Given the description of an element on the screen output the (x, y) to click on. 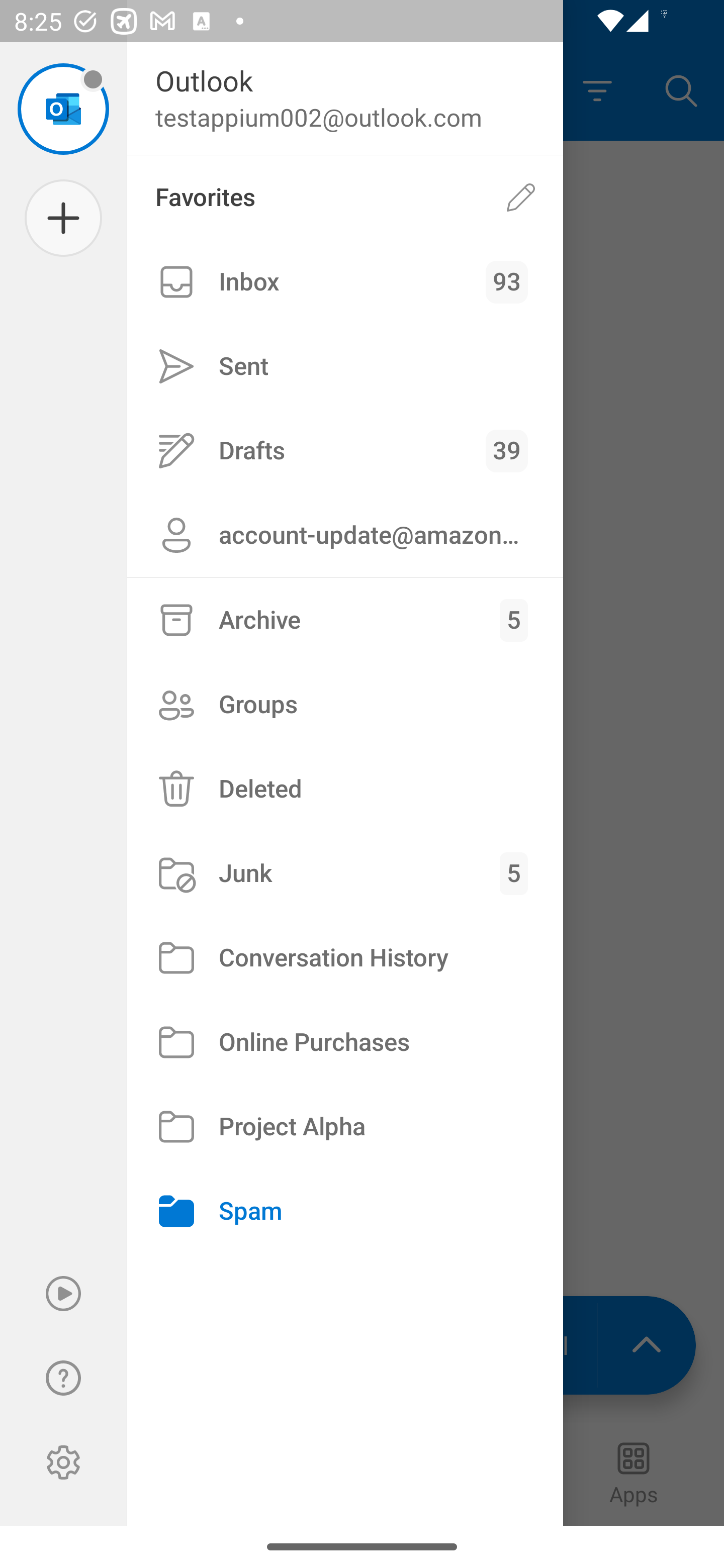
Edit favorites (520, 197)
Add account (63, 217)
Inbox Inbox, 93 unread emails (345, 281)
Sent (345, 366)
Drafts Drafts, 39 unread emails (345, 450)
account-update@amazon.com (345, 534)
Archive Archive, 2 of 9, level 1, 5 unread emails (345, 619)
Groups Groups, 3 of 9, level 1 (345, 703)
Deleted Deleted, 4 of 9, level 1 (345, 788)
Junk Junk, 5 of 9, level 1, 5 unread emails (345, 873)
Online Purchases Online Purchases, 7 of 9, level 1 (345, 1042)
Project Alpha Project Alpha, 8 of 9, level 1 (345, 1127)
Spam Spam, 9 of 9, level 1,Selected (345, 1210)
Play My Emails (62, 1293)
Help (62, 1377)
Settings (62, 1462)
